Given the description of an element on the screen output the (x, y) to click on. 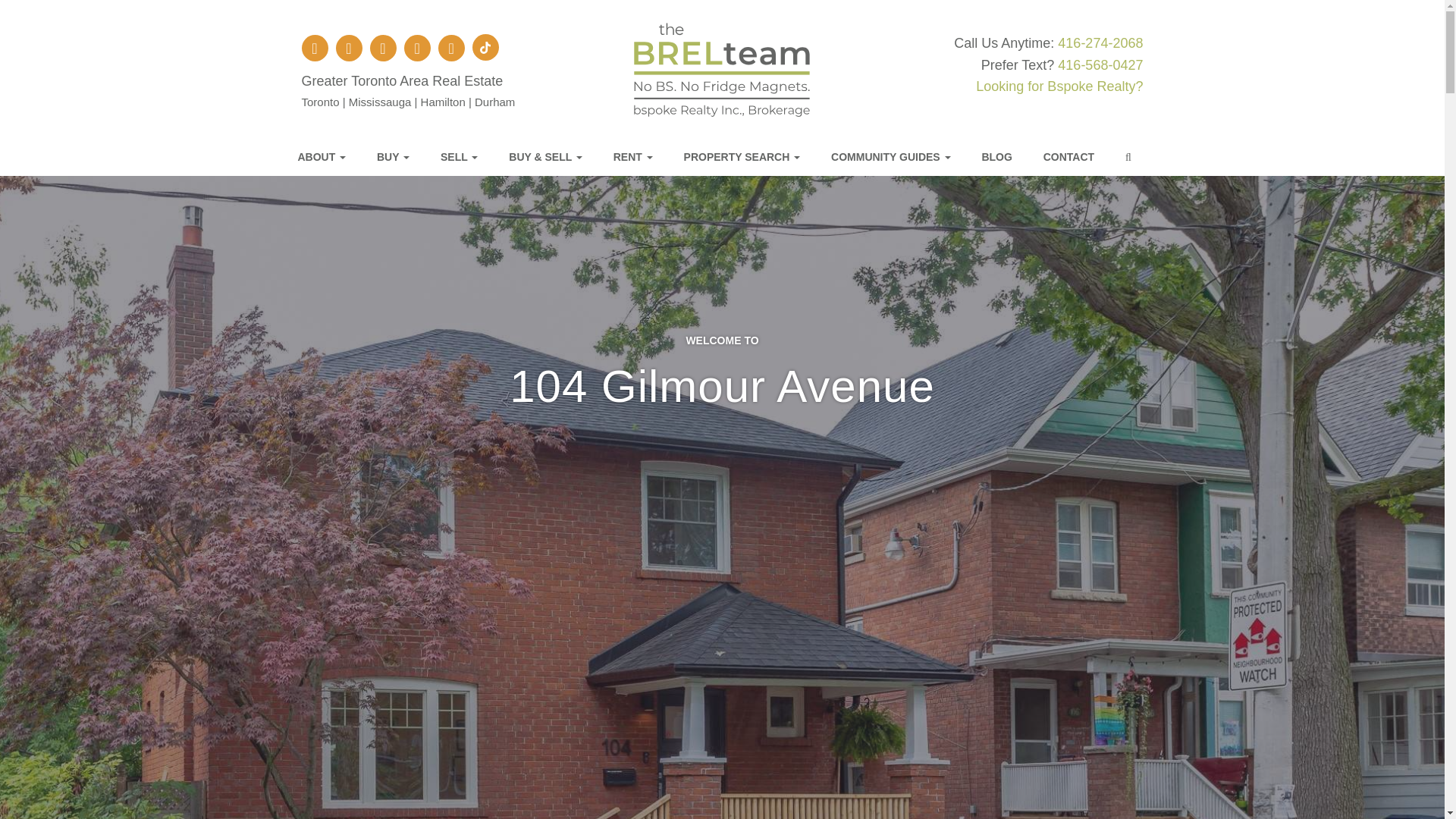
ABOUT (329, 157)
Visit us on Google Reviews (382, 48)
SELL (466, 157)
Visit us on Facebook (315, 48)
Visit us on Instagram (349, 48)
Visit us on TikTok (485, 47)
RENT (641, 157)
416-274-2068 (1100, 43)
BUY (400, 157)
Visit us on Youtube (451, 48)
